Given the description of an element on the screen output the (x, y) to click on. 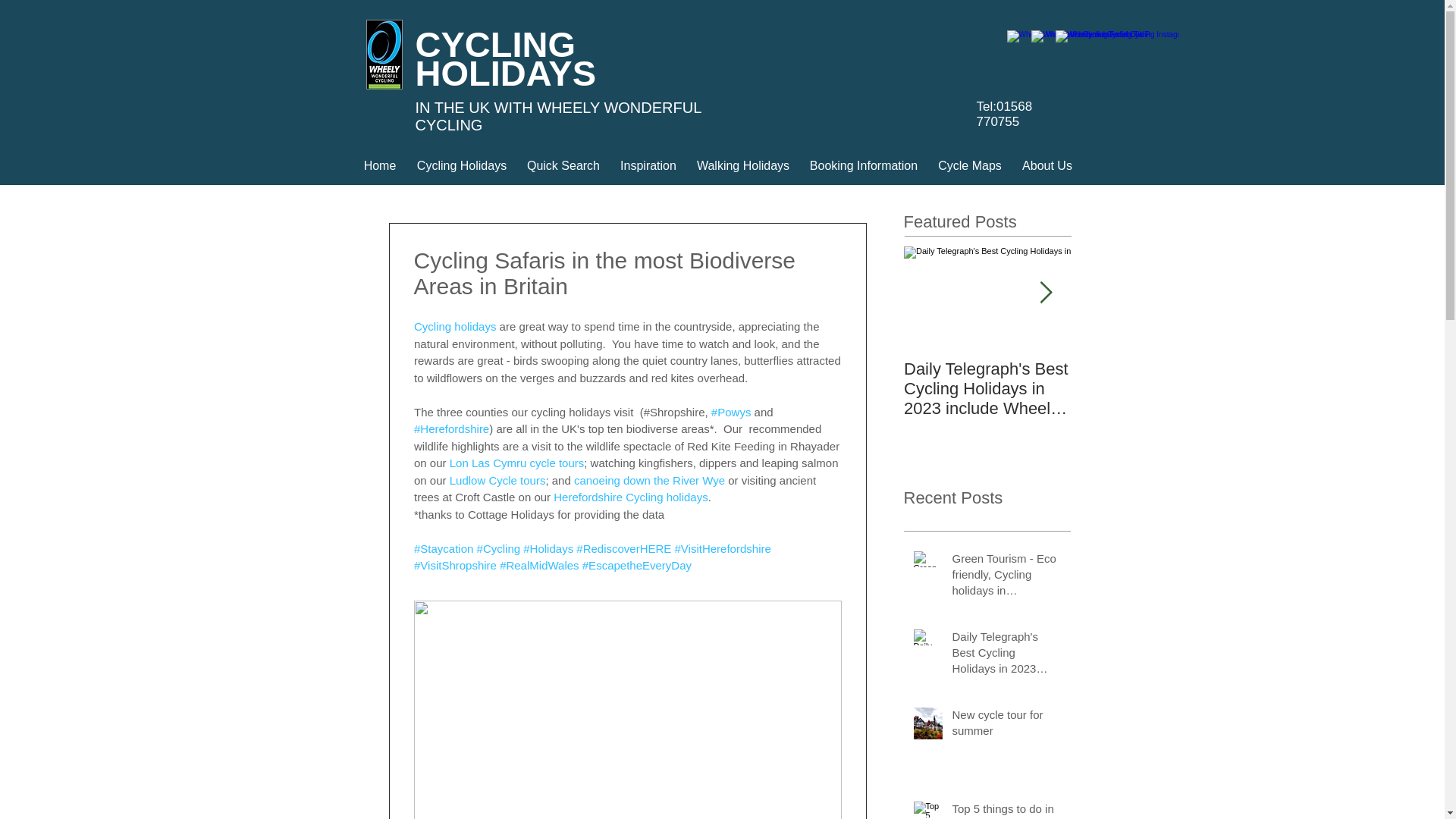
Home (379, 165)
Quick Search (562, 165)
Tel:01568 770755 (1004, 113)
Walking Holidays (742, 165)
Booking Information (863, 165)
Cycling Holidays (461, 165)
Inspiration (648, 165)
